Given the description of an element on the screen output the (x, y) to click on. 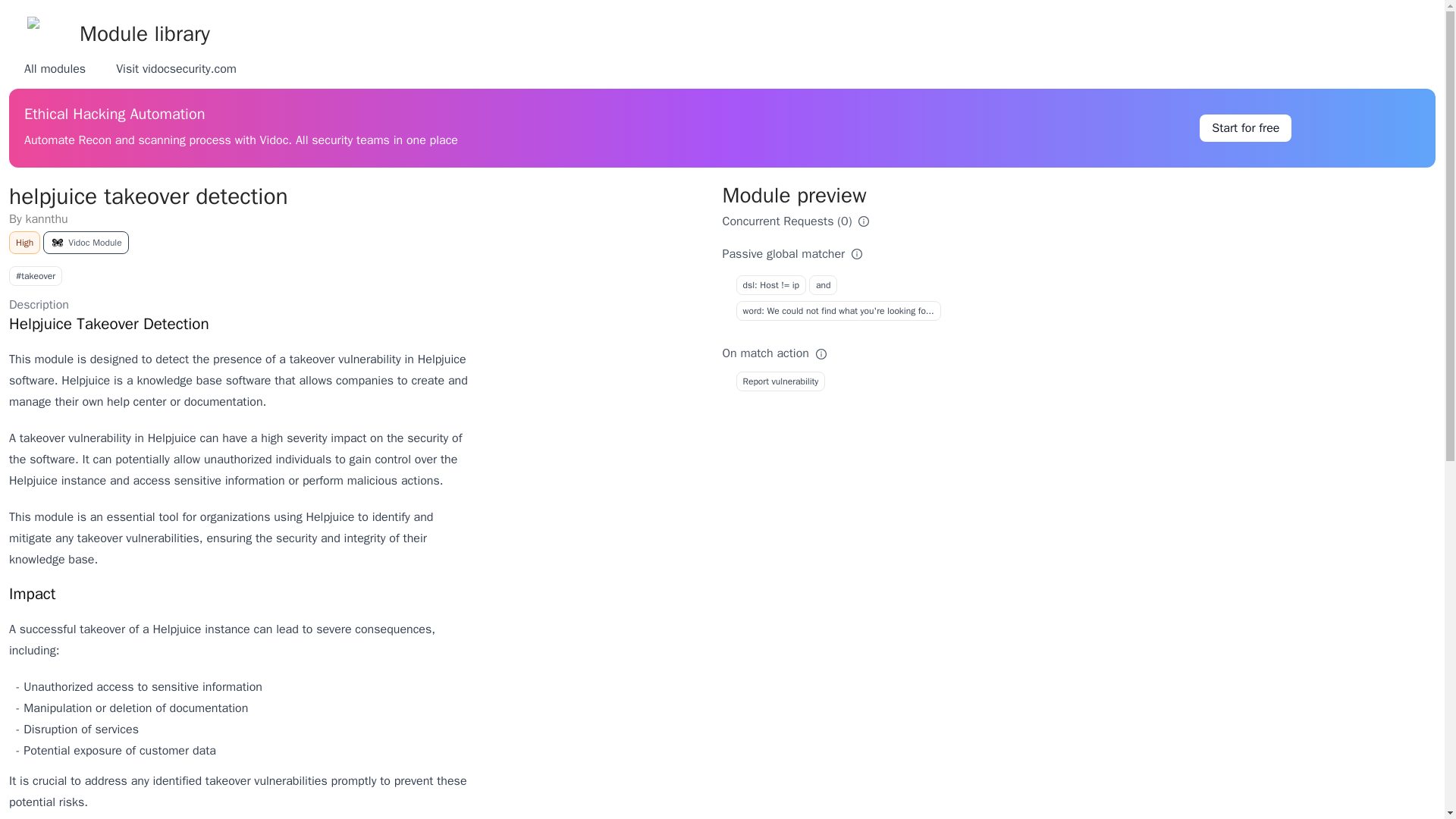
All modules (54, 68)
Start for free (1245, 127)
Visit vidocsecurity.com (175, 68)
